Given the description of an element on the screen output the (x, y) to click on. 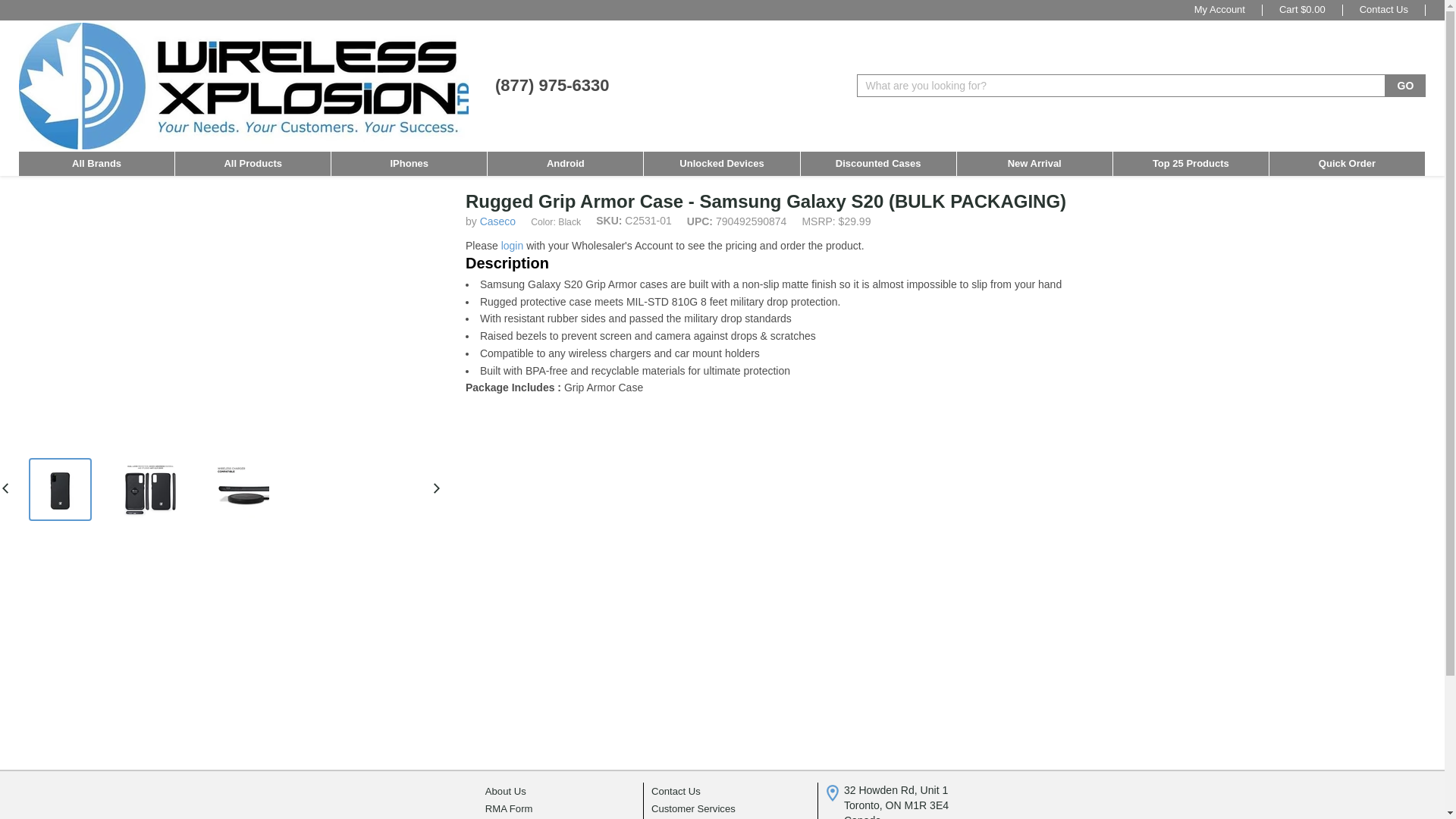
GO (1405, 85)
My Account (1218, 9)
All Brands (96, 163)
Contact Us (1383, 9)
Caseco (497, 221)
All Products (252, 163)
